Given the description of an element on the screen output the (x, y) to click on. 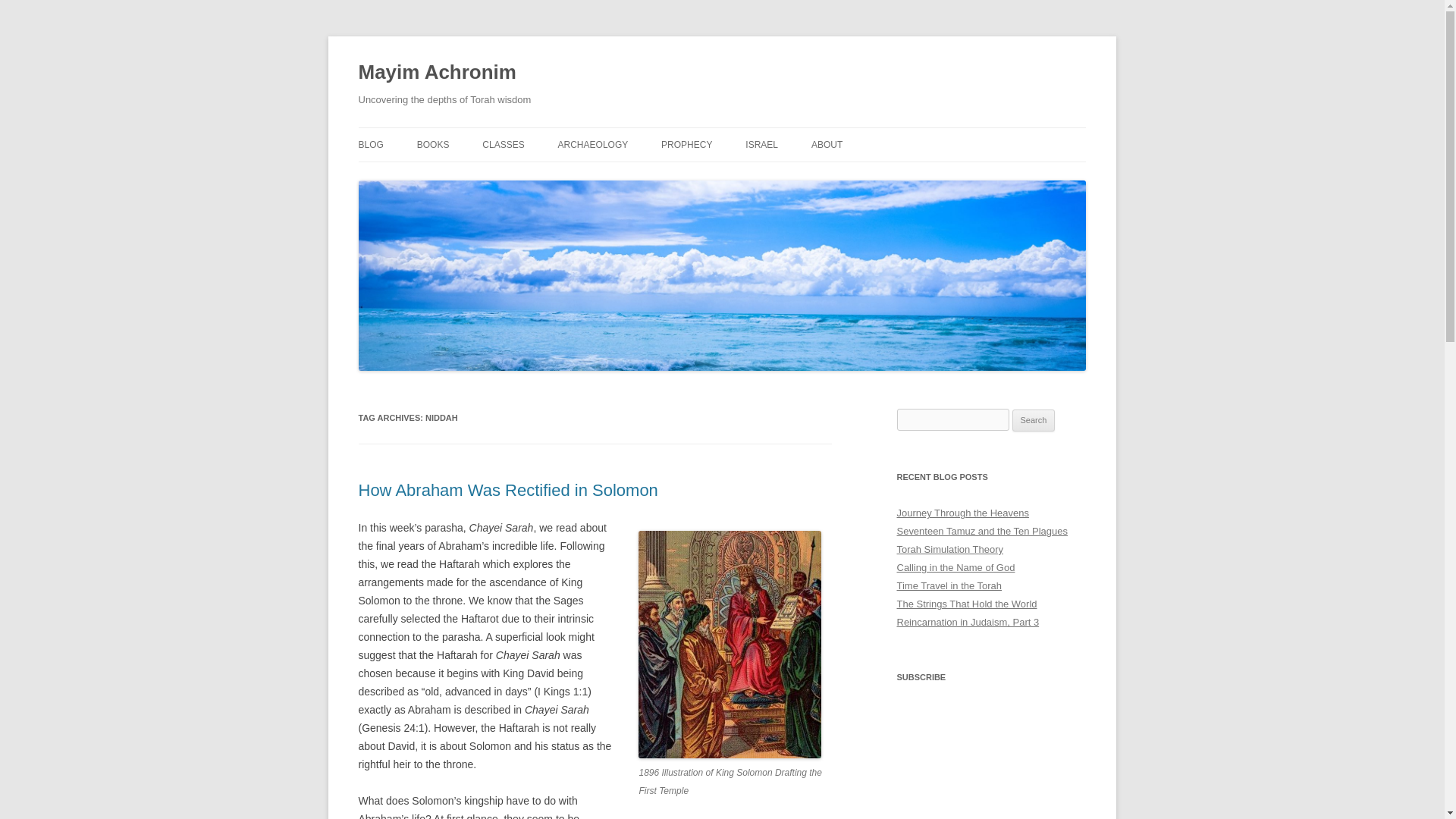
Search (1033, 420)
CLASSES (502, 144)
PROPHECY (686, 144)
How Abraham Was Rectified in Solomon (508, 489)
Mayim Achronim (436, 72)
ISRAEL (761, 144)
ABOUT (826, 144)
ARCHAEOLOGY (592, 144)
BOOKS (432, 144)
